Given the description of an element on the screen output the (x, y) to click on. 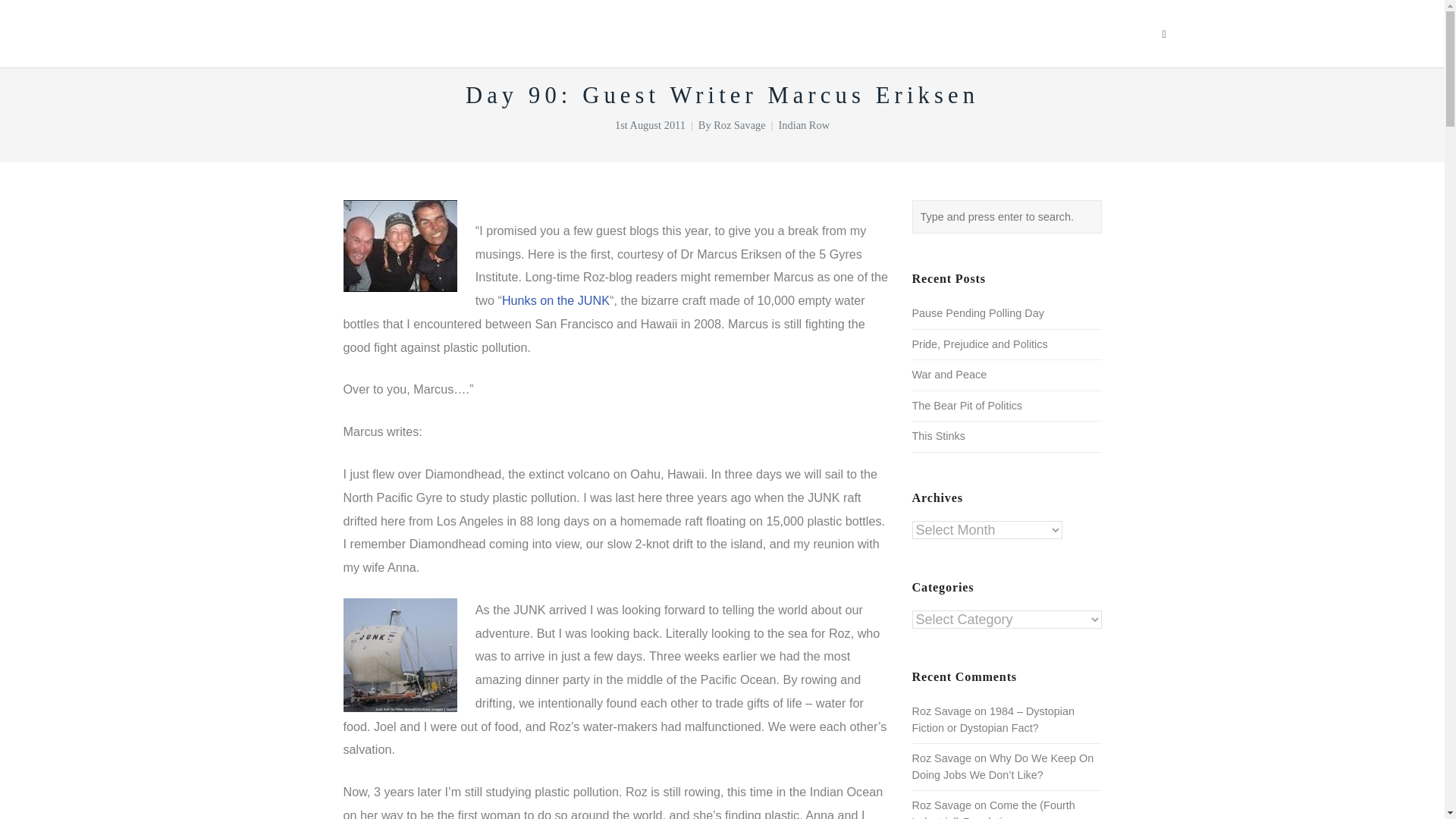
Hunks on the JUNK (556, 300)
Podcast (966, 33)
Indian Row (803, 124)
View all posts in Indian Row (803, 124)
Speaker (790, 33)
Junk (399, 654)
Roz Savage (739, 124)
